Given the description of an element on the screen output the (x, y) to click on. 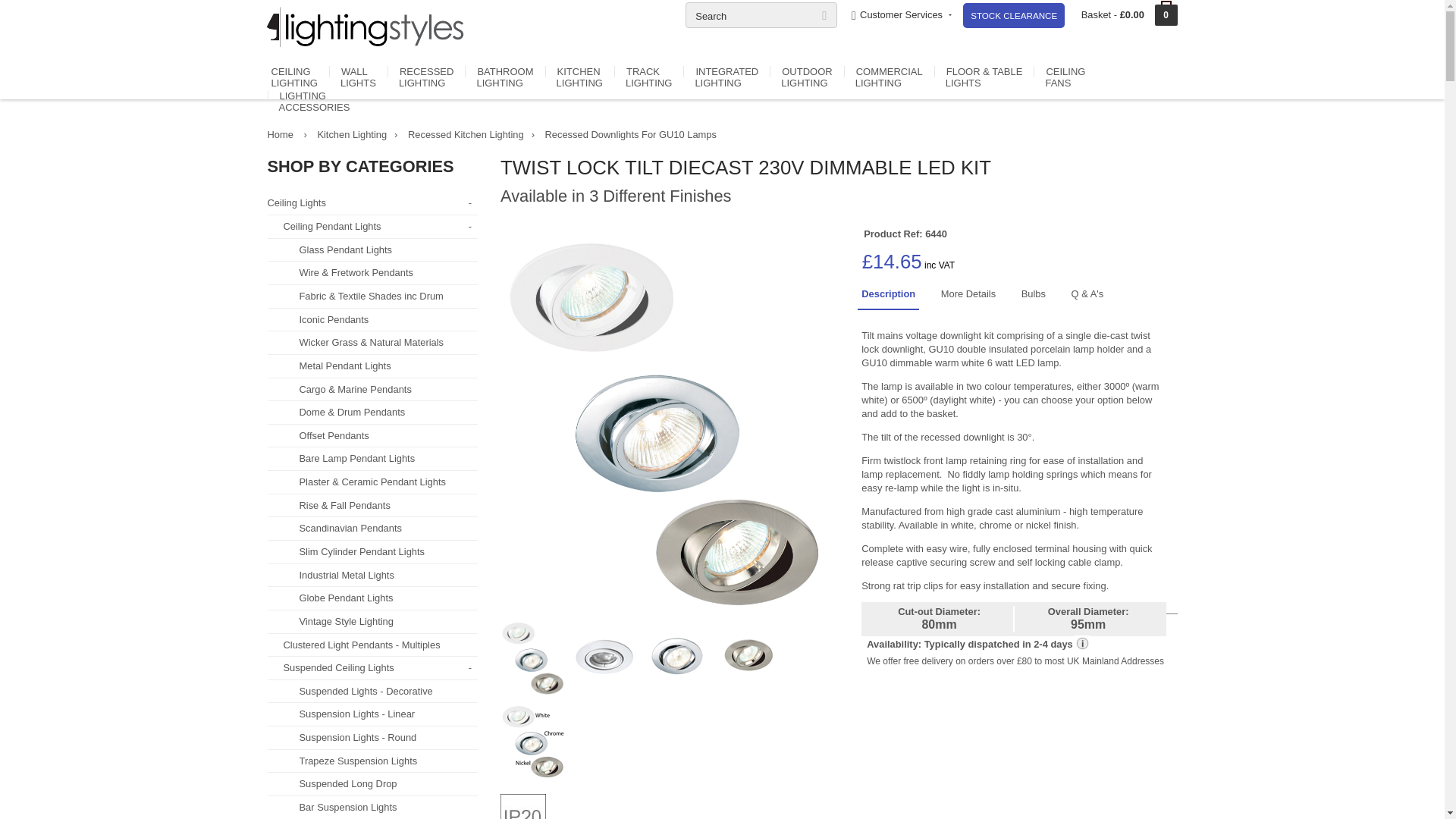
Often In stock, but this is a fast moving item (978, 644)
Search (761, 14)
Offers no protection from splashed or sprayed water (523, 806)
Black Friday (1013, 15)
